Given the description of an element on the screen output the (x, y) to click on. 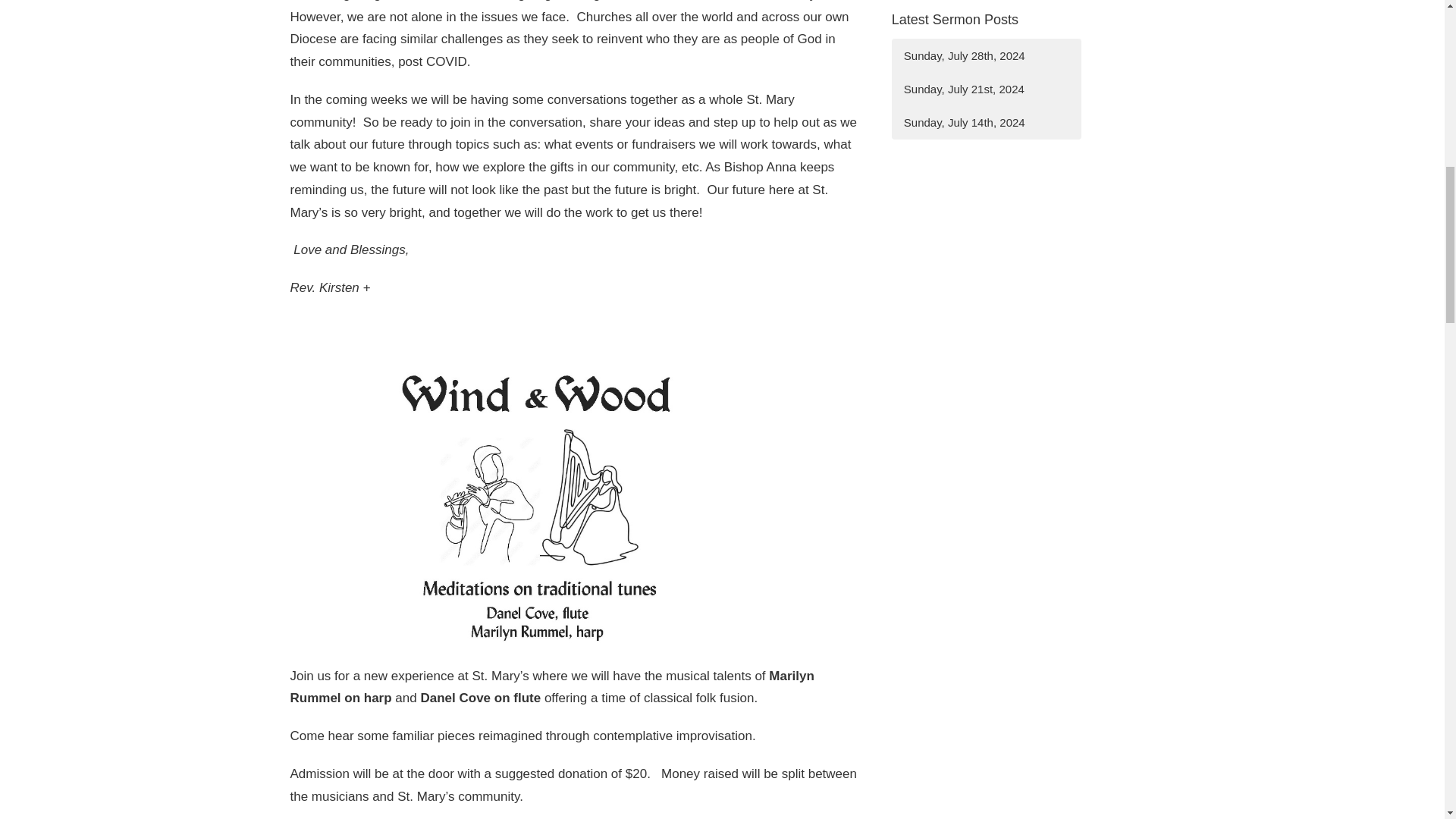
Latest Sermon Posts (954, 19)
Sunday, July 14th, 2024 (986, 122)
Sunday, July 21st, 2024 (986, 89)
Sunday, July 28th, 2024 (986, 55)
